Given the description of an element on the screen output the (x, y) to click on. 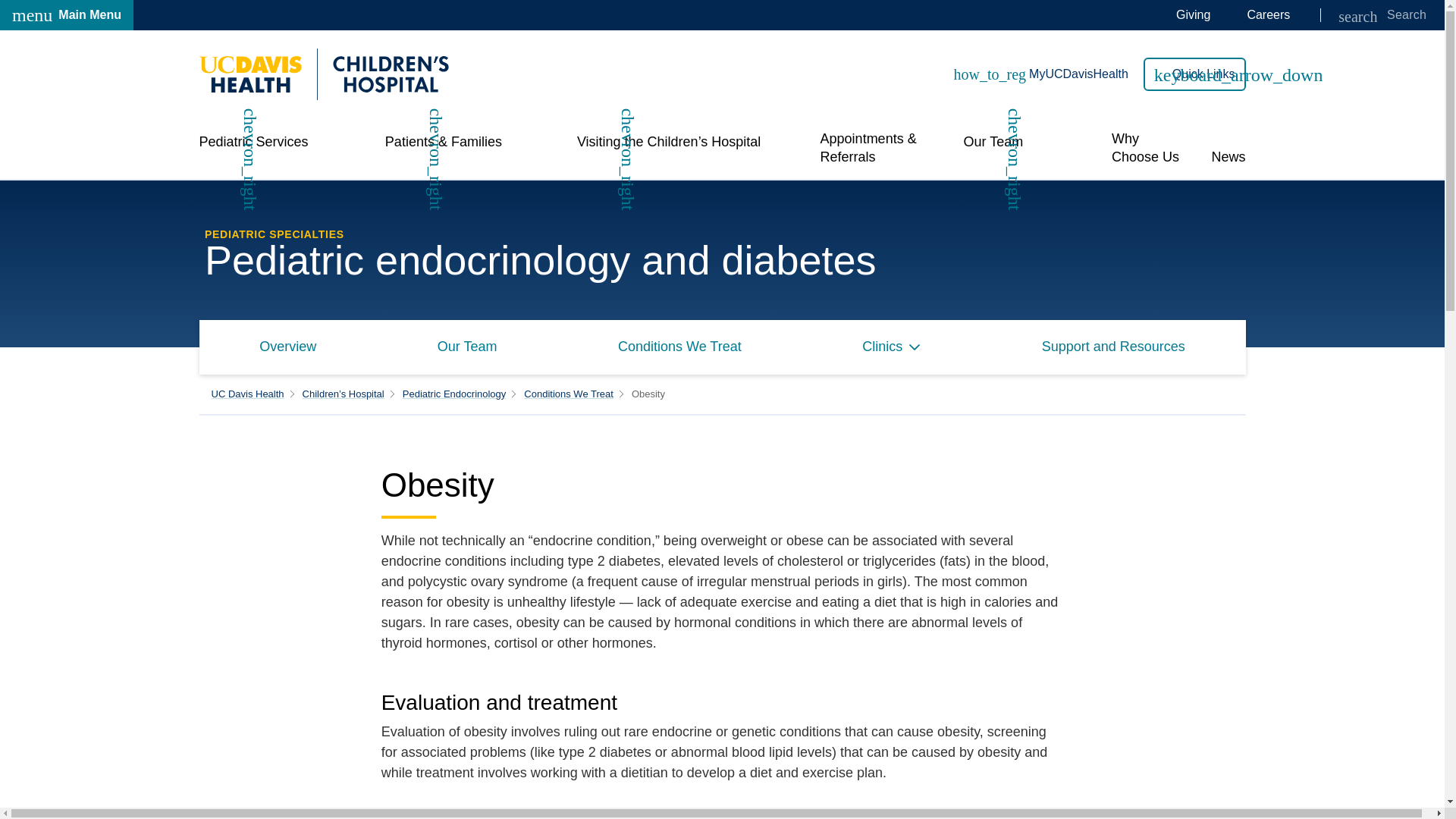
Giving (1192, 15)
search Search (1382, 14)
Conditions We Treat (568, 393)
Quick Links (1194, 73)
Pediatric Endocrinology (454, 393)
UC Davis Health (247, 393)
Children's Hospital (323, 73)
Careers (66, 15)
